Given the description of an element on the screen output the (x, y) to click on. 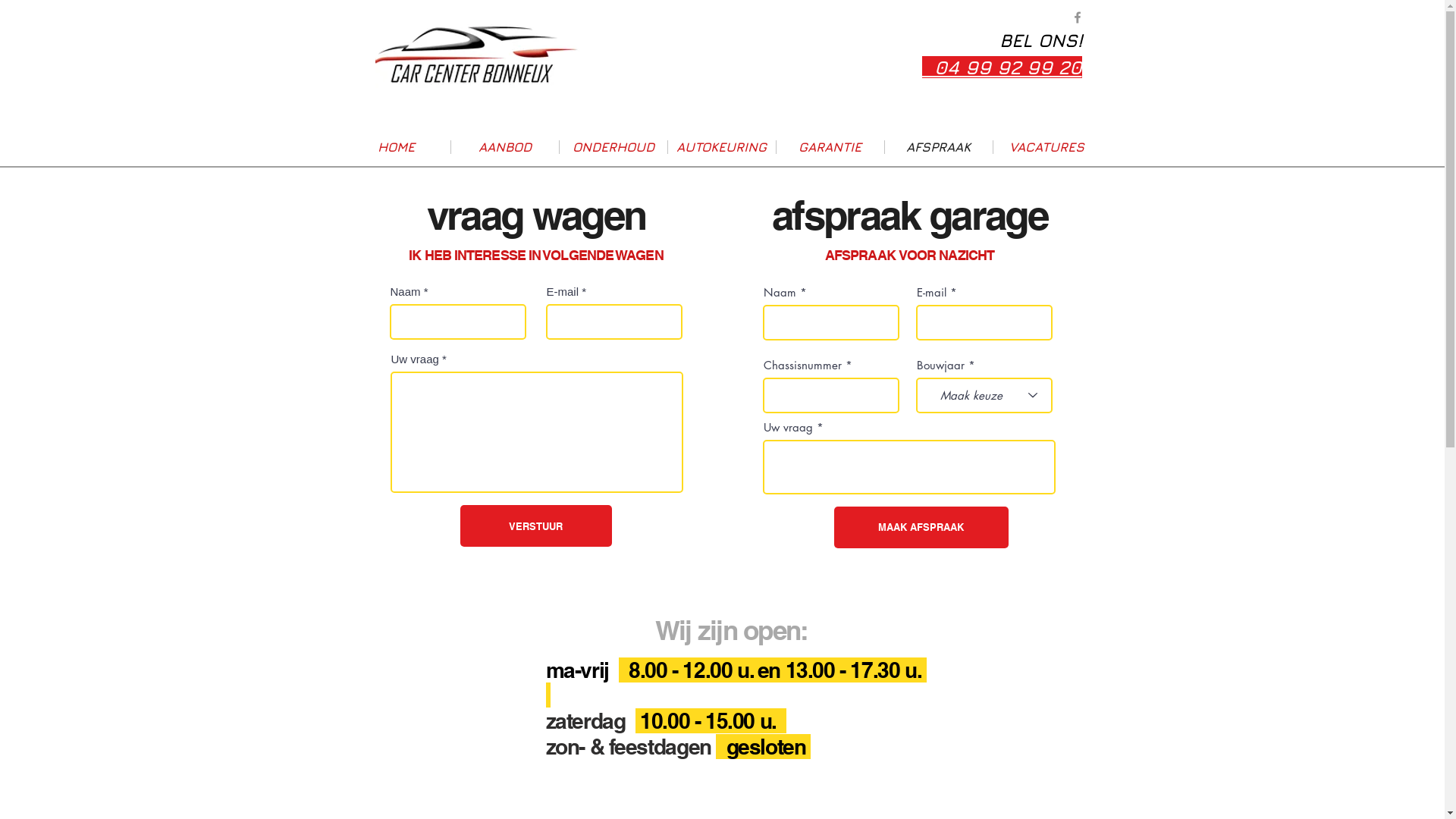
ONDERHOUD Element type: text (612, 146)
  04 99 92 99 20 Element type: text (1002, 67)
AANBOD Element type: text (504, 146)
VACATURES Element type: text (1045, 146)
GARANTIE Element type: text (829, 146)
AFSPRAAK Element type: text (938, 146)
AUTOKEURING Element type: text (721, 146)
VERSTUUR Element type: text (535, 525)
HOME Element type: text (395, 146)
MAAK AFSPRAAK Element type: text (921, 527)
